Given the description of an element on the screen output the (x, y) to click on. 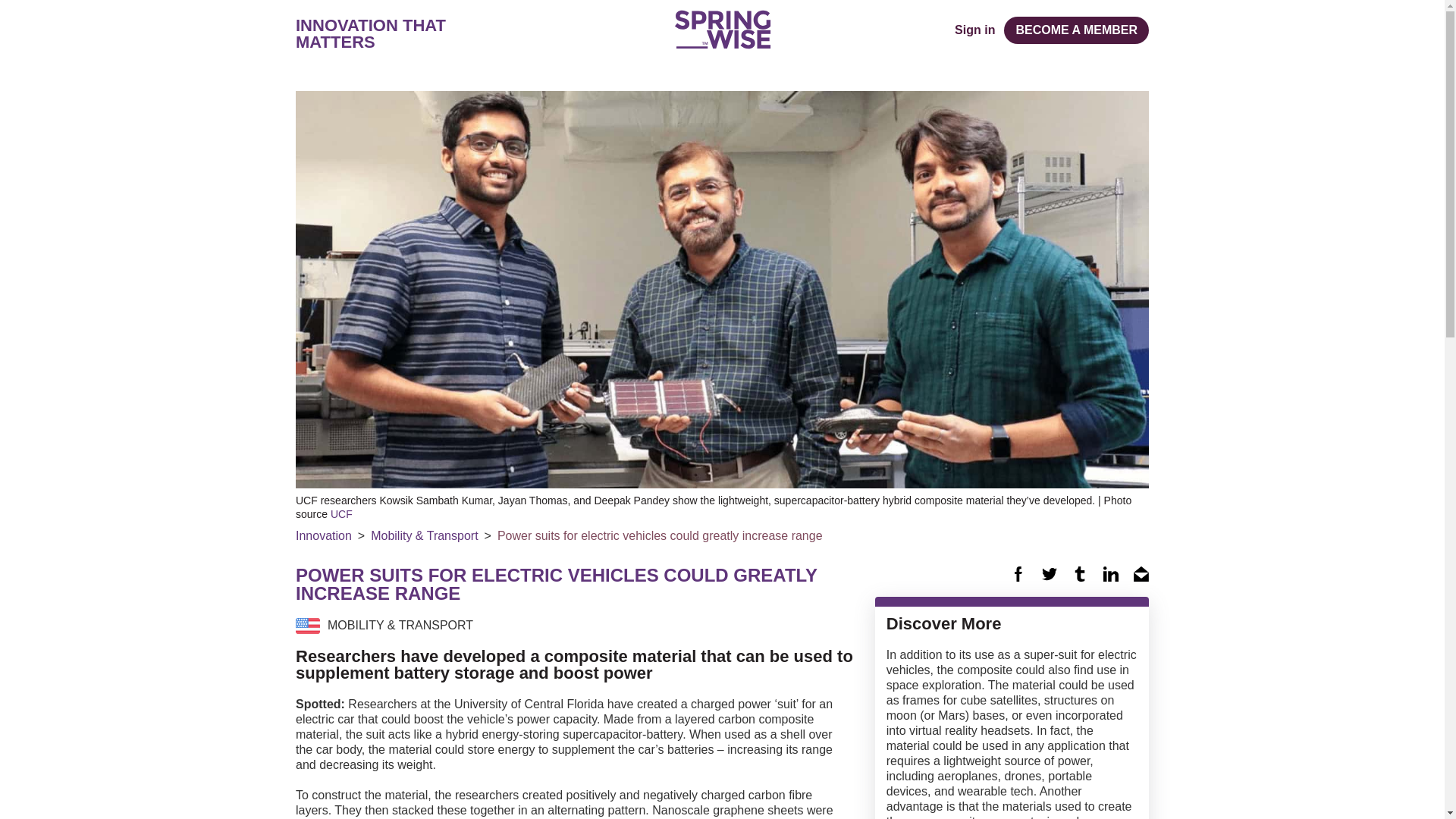
Innovation (323, 534)
Sign in (974, 30)
Email (1141, 572)
Linked In (1110, 572)
Springwise (721, 29)
Home (721, 29)
Tumblr (1079, 572)
Facebook (1018, 572)
BECOME A MEMBER (1076, 30)
Twitter (1049, 572)
